Given the description of an element on the screen output the (x, y) to click on. 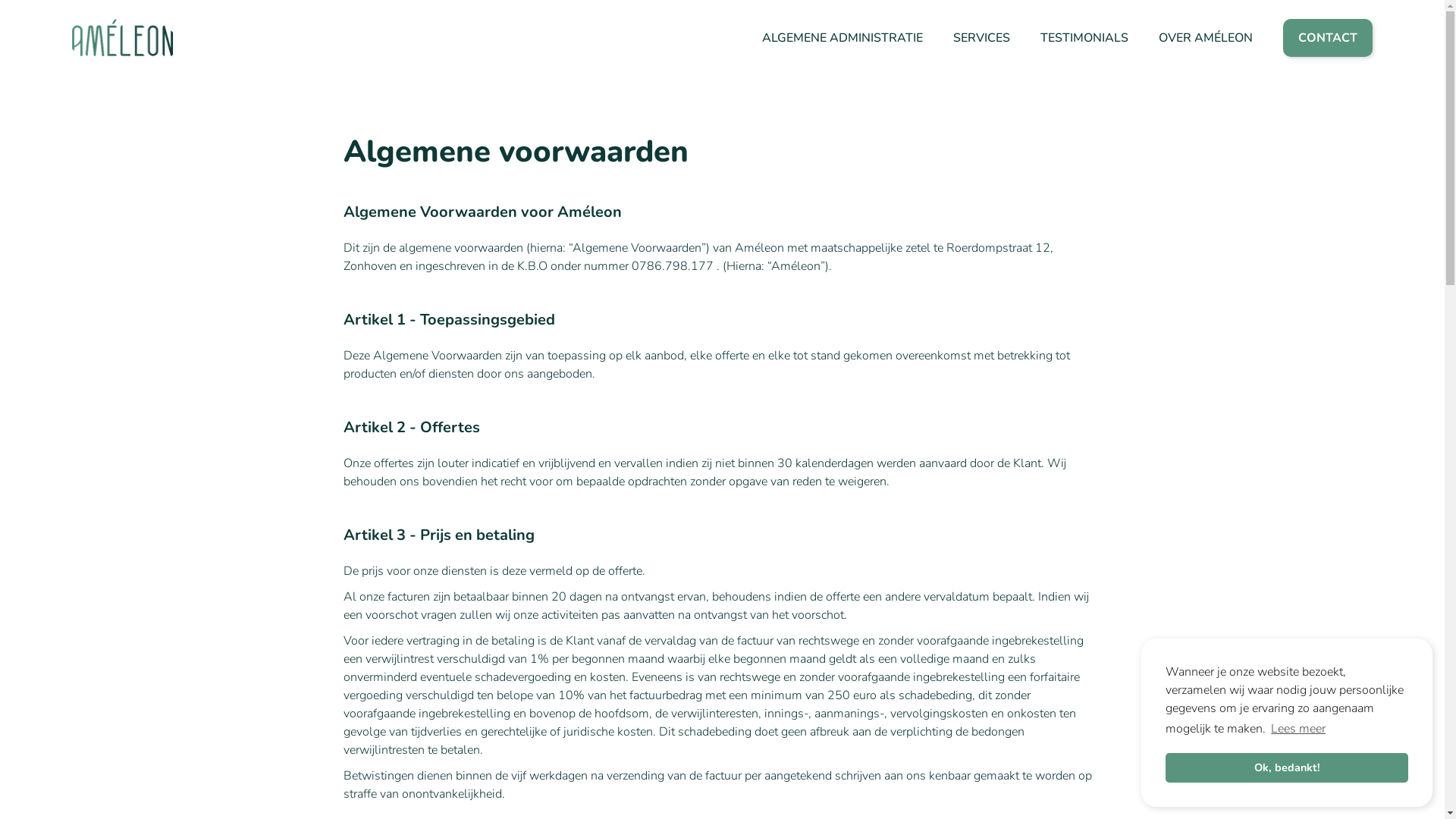
TESTIMONIALS Element type: text (1084, 37)
Lees meer Element type: text (1297, 728)
CONTACT Element type: text (1327, 37)
Ok, bedankt! Element type: text (1286, 767)
ALGEMENE ADMINISTRATIE Element type: text (842, 37)
SERVICES Element type: text (981, 37)
